Given the description of an element on the screen output the (x, y) to click on. 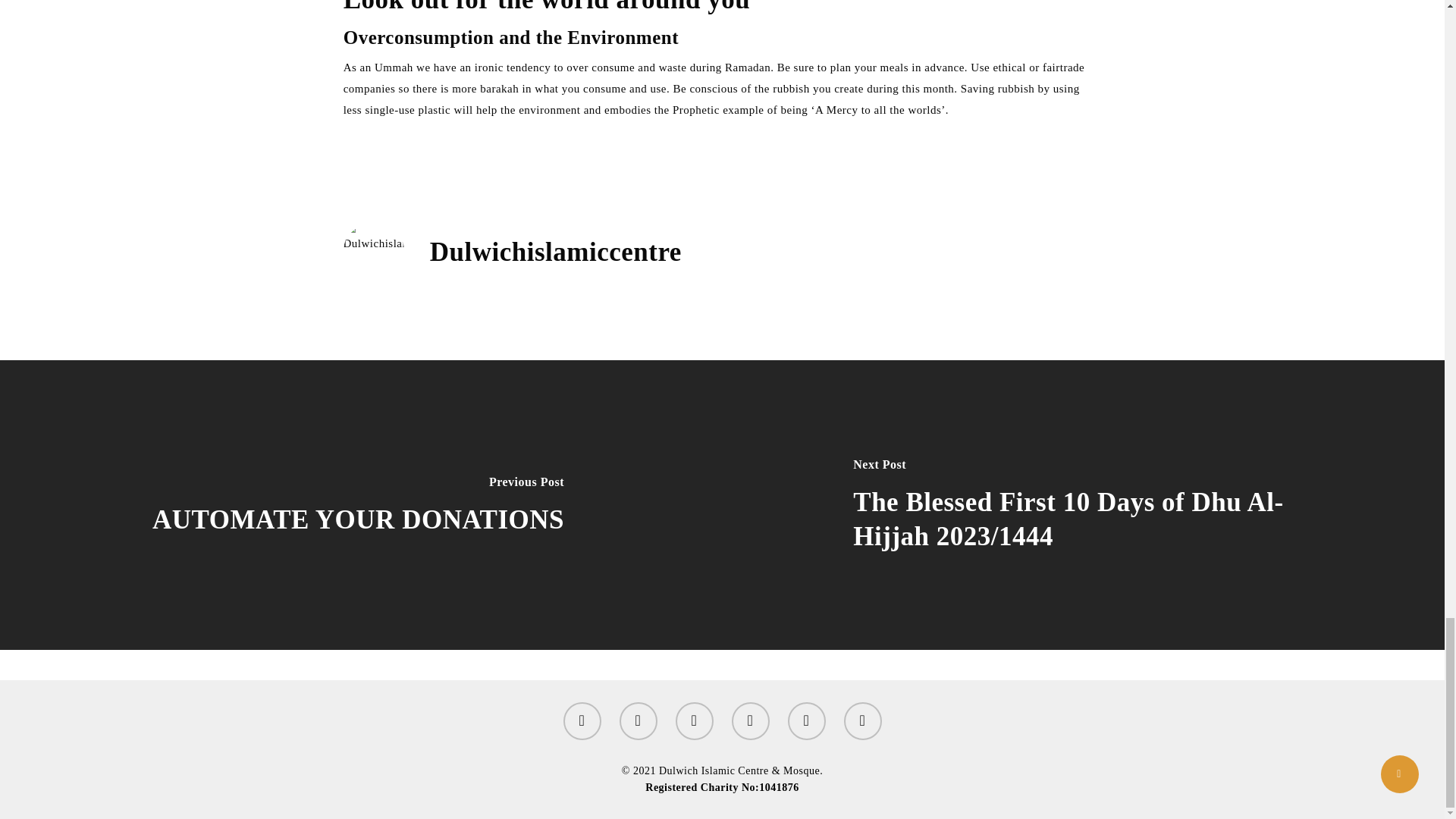
Dulwichislamiccentre (555, 251)
